Given the description of an element on the screen output the (x, y) to click on. 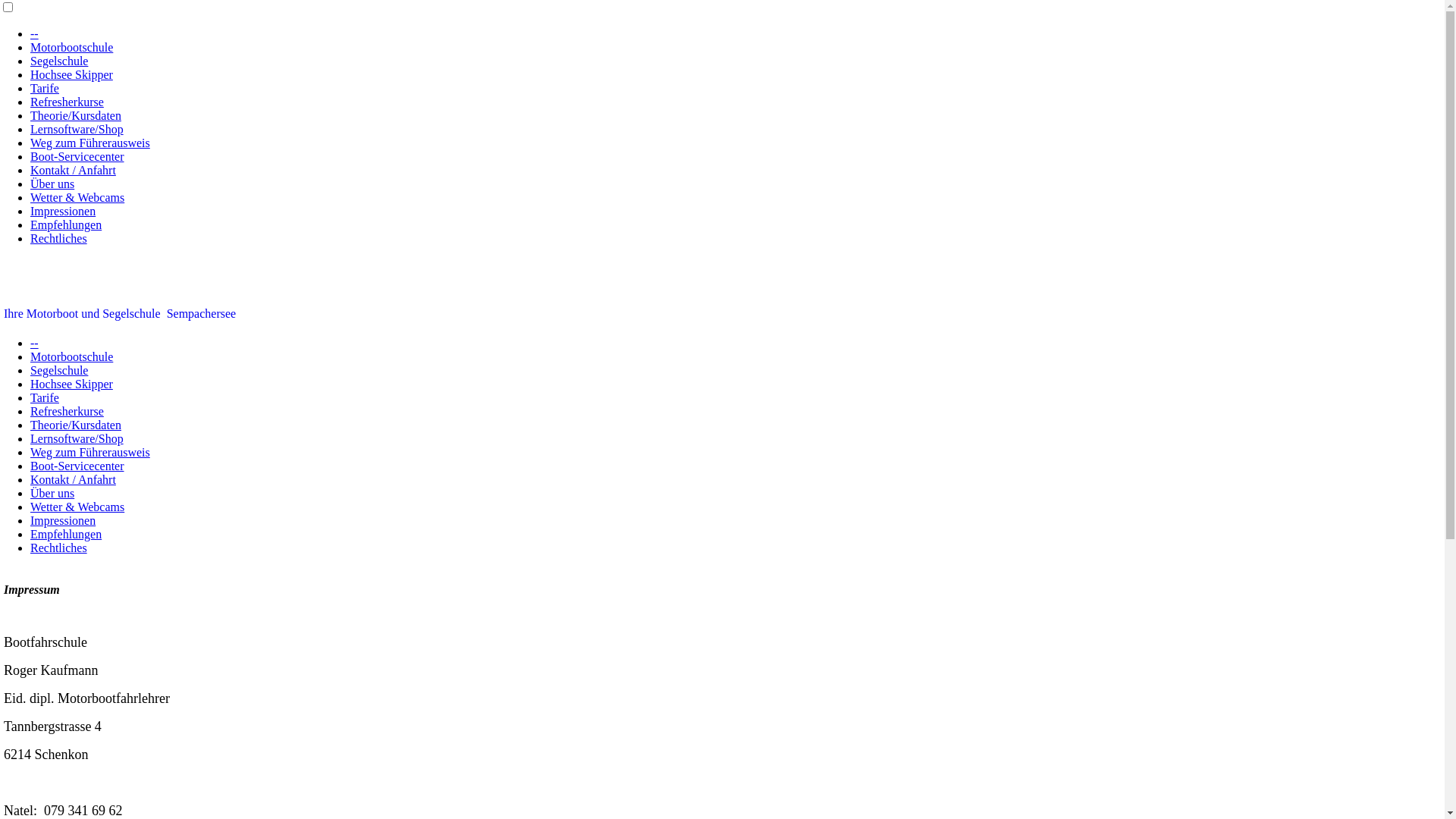
Refresherkurse Element type: text (66, 101)
Boot-Servicecenter Element type: text (77, 156)
Kontakt / Anfahrt Element type: text (73, 479)
Segelschule Element type: text (58, 60)
Tarife Element type: text (44, 87)
Ihre Motorboot und Segelschule  Sempachersee Element type: text (119, 313)
Hochsee Skipper Element type: text (71, 74)
Segelschule Element type: text (58, 370)
Rechtliches Element type: text (58, 238)
Hochsee Skipper Element type: text (71, 383)
Impressionen Element type: text (62, 520)
Wetter & Webcams Element type: text (77, 197)
Empfehlungen Element type: text (65, 224)
Tarife Element type: text (44, 397)
Boot-Servicecenter Element type: text (77, 465)
Theorie/Kursdaten Element type: text (75, 424)
Refresherkurse Element type: text (66, 410)
Empfehlungen Element type: text (65, 533)
Motorbootschule Element type: text (71, 46)
Theorie/Kursdaten Element type: text (75, 115)
Rechtliches Element type: text (58, 547)
Impressionen Element type: text (62, 210)
Lernsoftware/Shop Element type: text (76, 128)
-- Element type: text (34, 342)
Kontakt / Anfahrt Element type: text (73, 169)
Motorbootschule Element type: text (71, 356)
Lernsoftware/Shop Element type: text (76, 438)
-- Element type: text (34, 33)
Wetter & Webcams Element type: text (77, 506)
